Given the description of an element on the screen output the (x, y) to click on. 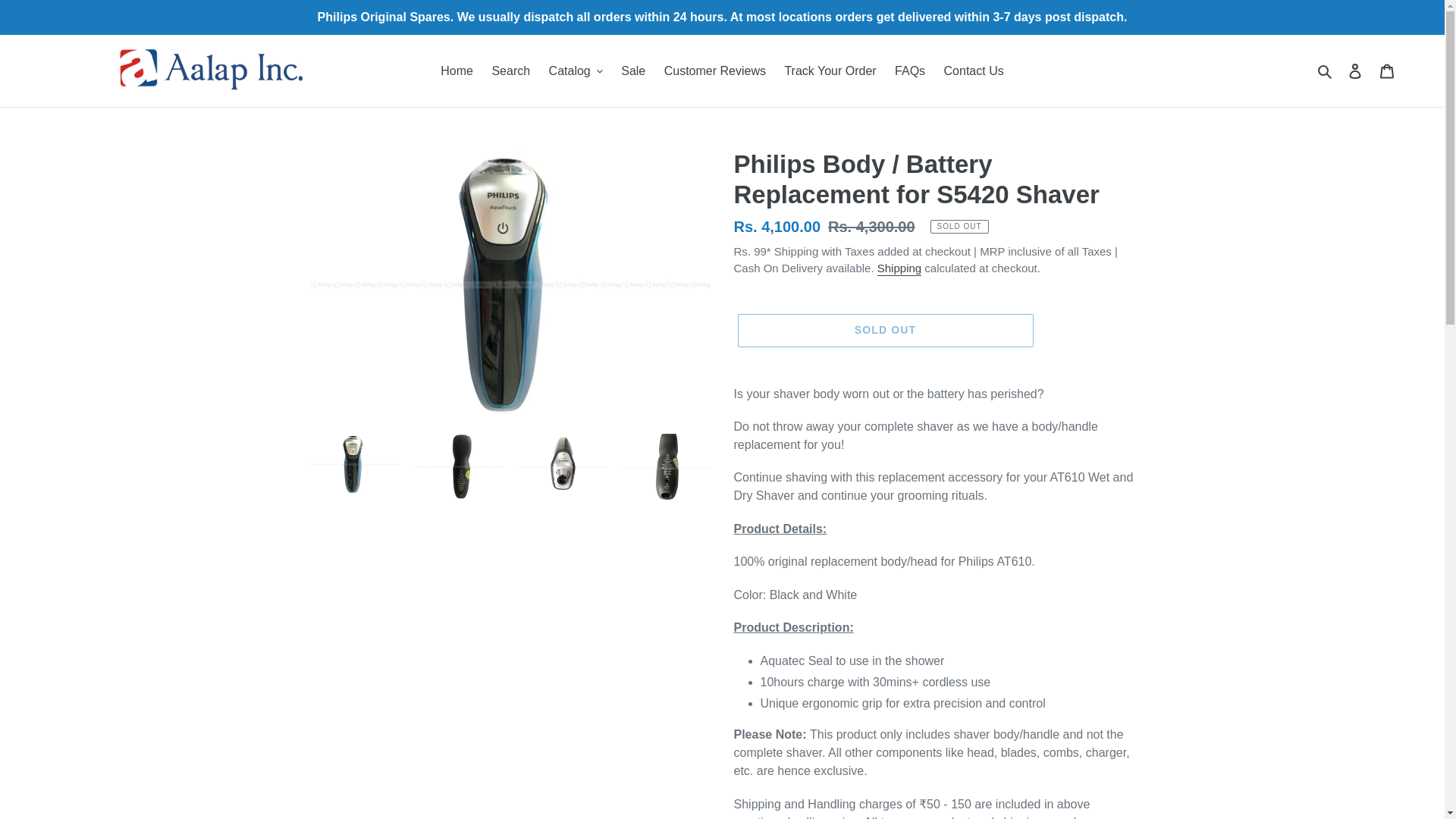
Search (1326, 70)
Home (456, 69)
Sale (632, 69)
Search (510, 69)
Cart (1387, 70)
Contact Us (973, 69)
Catalog (575, 69)
Log in (1355, 70)
Track Your Order (829, 69)
Customer Reviews (714, 69)
